Given the description of an element on the screen output the (x, y) to click on. 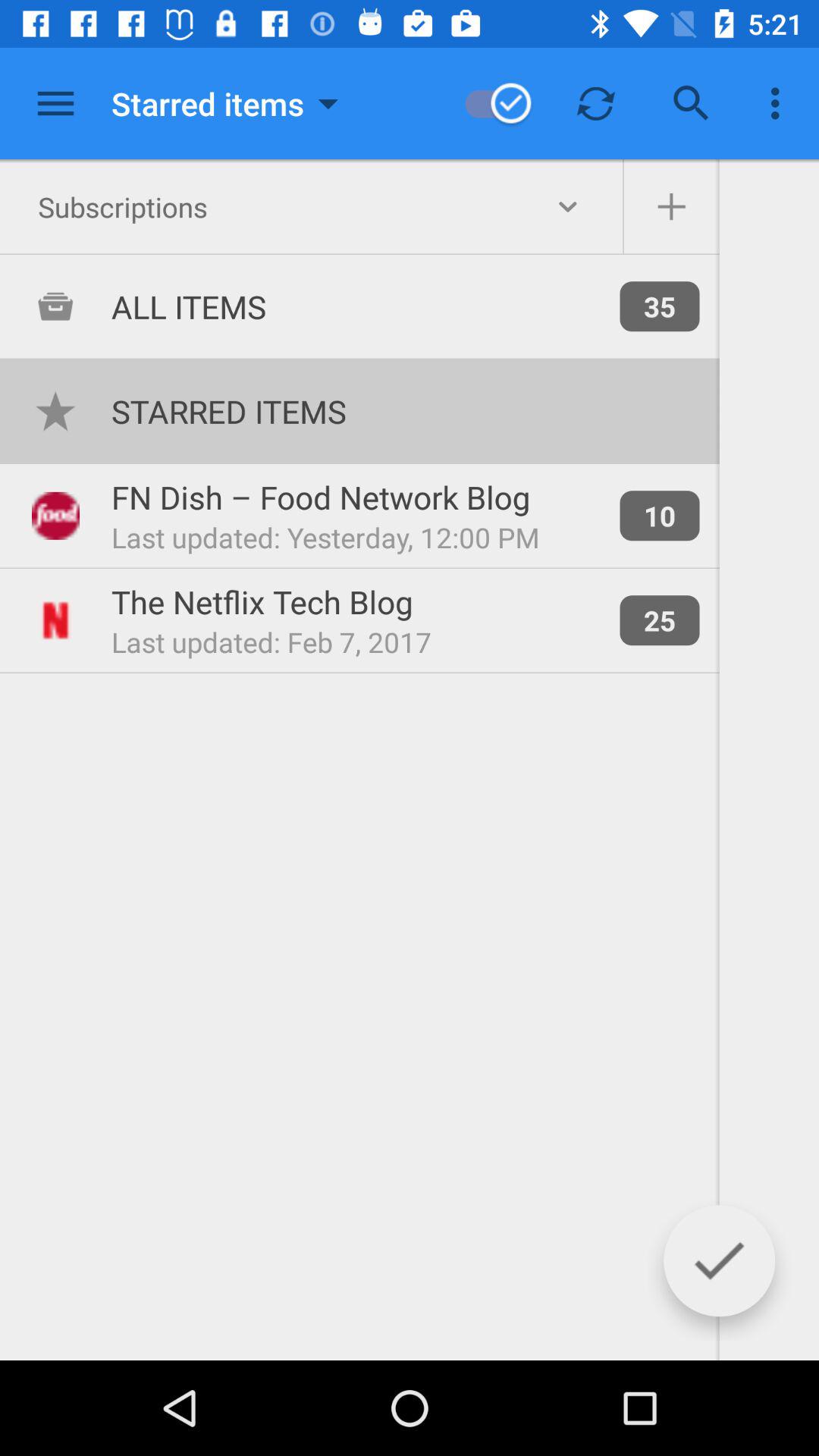
refresh page (595, 103)
